Given the description of an element on the screen output the (x, y) to click on. 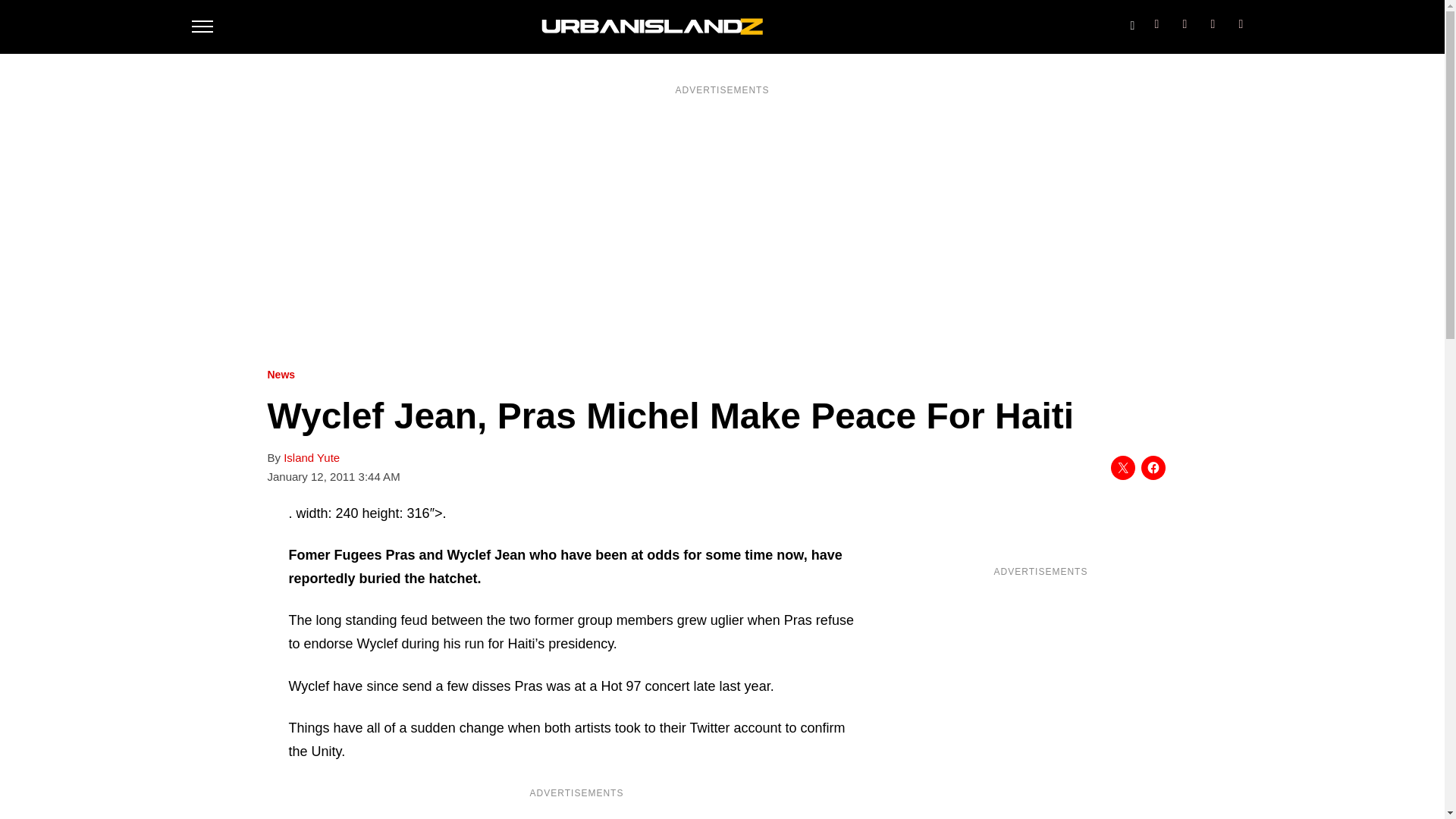
Click to share on X (1121, 467)
Click to share on Facebook (1152, 467)
Advertisement (576, 810)
Posts by Island Yute (311, 458)
News (280, 375)
Island Yute (311, 458)
Search (1131, 22)
Advertisement (1039, 692)
